Given the description of an element on the screen output the (x, y) to click on. 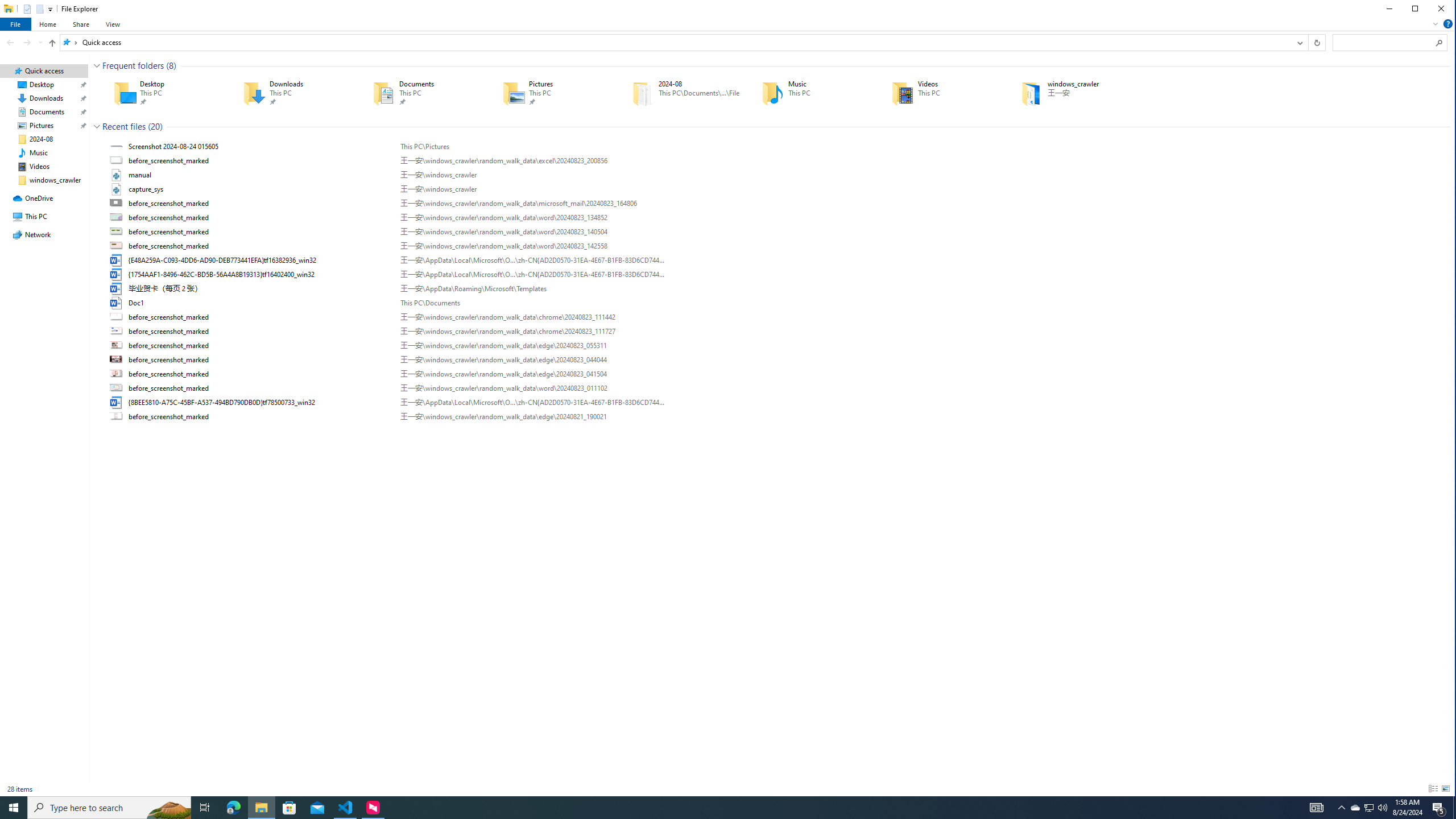
Path (532, 416)
Pictures (550, 93)
Downloads (291, 93)
Doc1 (776, 302)
Count (155, 126)
Minimize (1388, 9)
Collapse Group (97, 126)
Navigation buttons (23, 42)
Up band toolbar (52, 44)
Address band toolbar (1307, 42)
Customize Quick Access Toolbar (49, 8)
Quick access (101, 42)
Properties (26, 8)
Forward (Alt + Right Arrow) (27, 42)
